Given the description of an element on the screen output the (x, y) to click on. 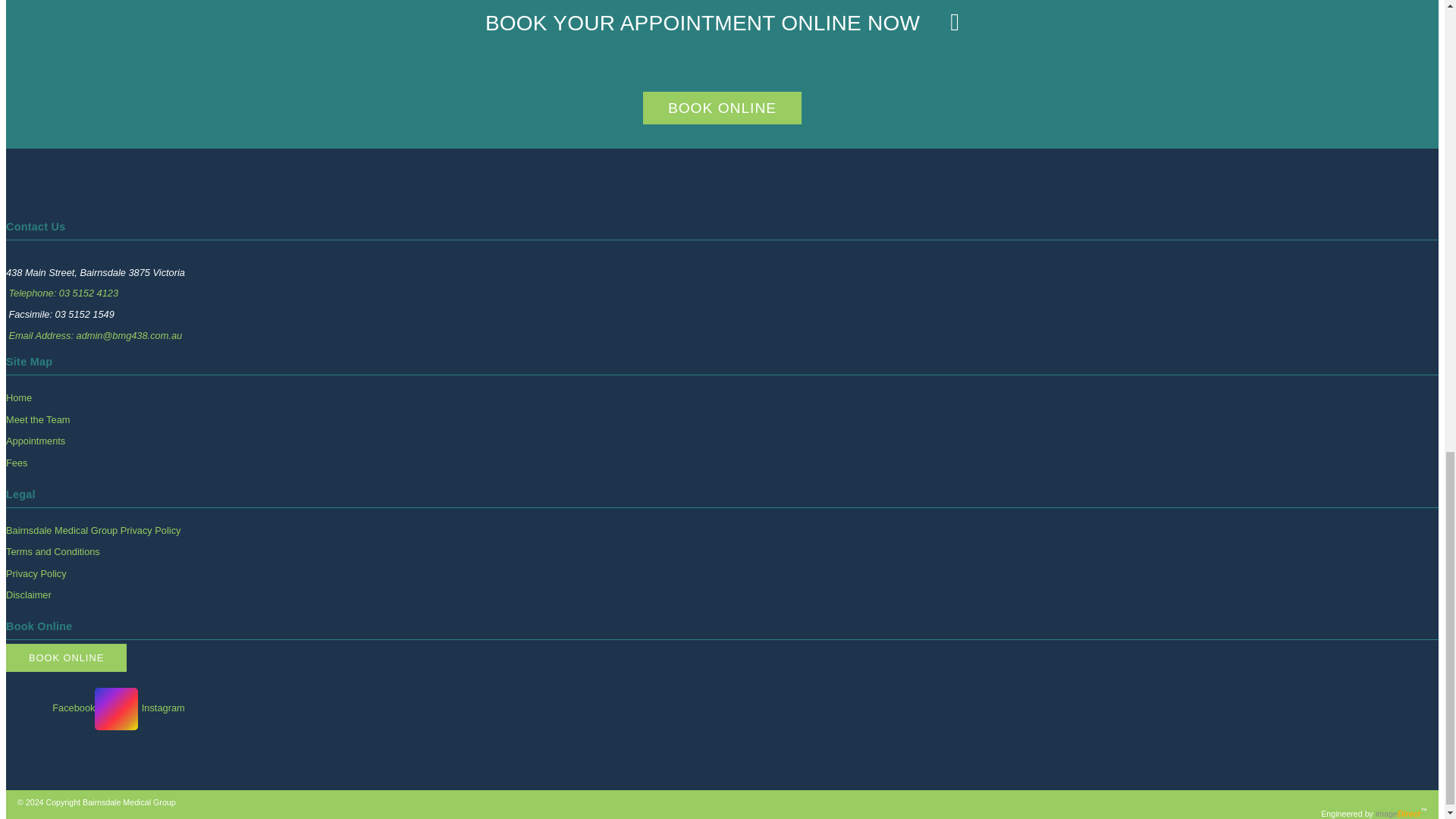
Telephone: 03 5152 4123 (62, 292)
Part of the East Gippsland Primary Health Alliance (129, 801)
BOOK ONLINE (722, 107)
